Given the description of an element on the screen output the (x, y) to click on. 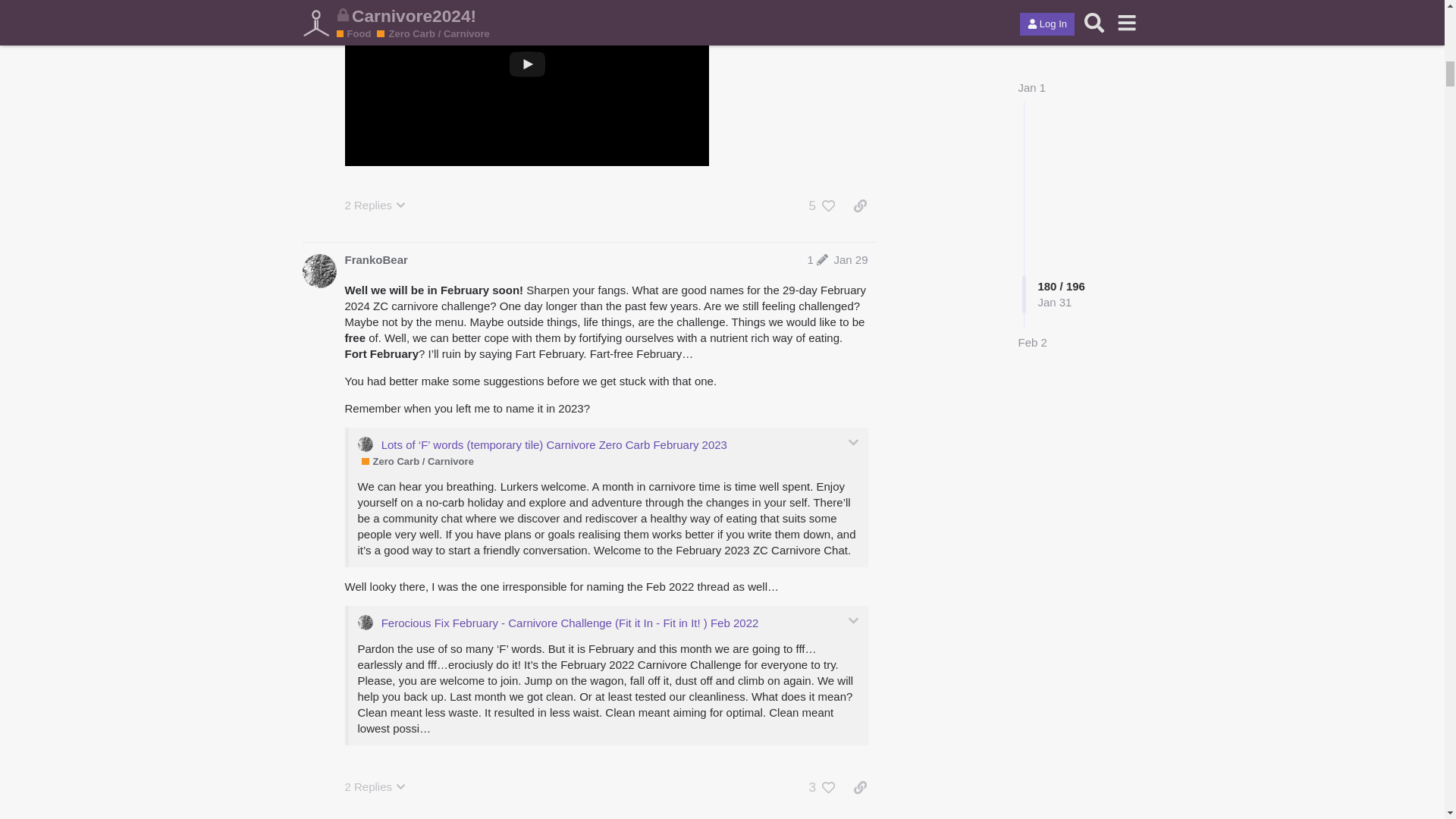
2 Replies (374, 205)
1 (817, 259)
FrankoBear (375, 259)
like this post (829, 206)
2 Replies (374, 205)
Jan 29 (849, 259)
2 Replies (374, 786)
share a link to this post (860, 206)
